Given the description of an element on the screen output the (x, y) to click on. 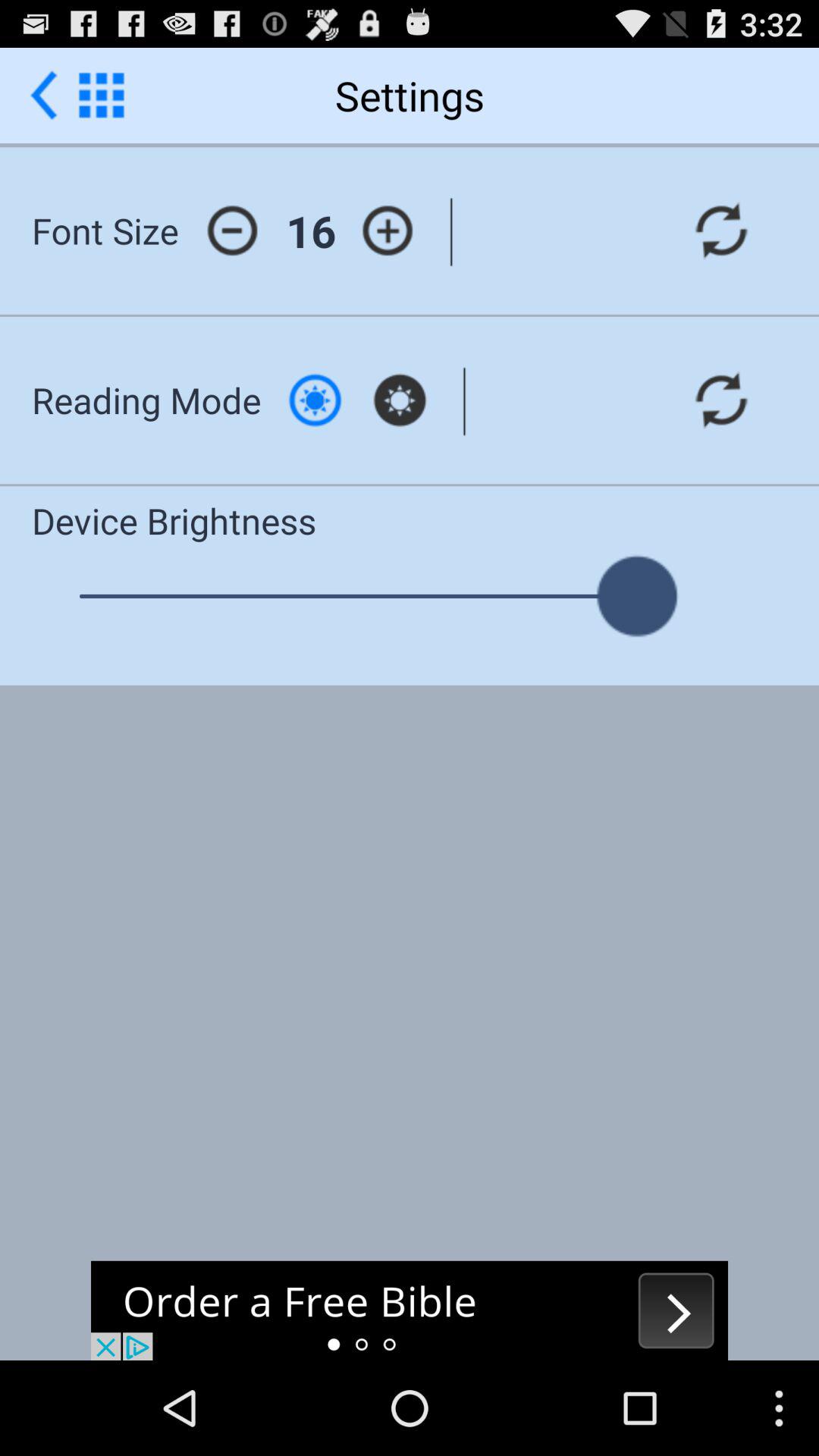
britness adjustment option (315, 399)
